Given the description of an element on the screen output the (x, y) to click on. 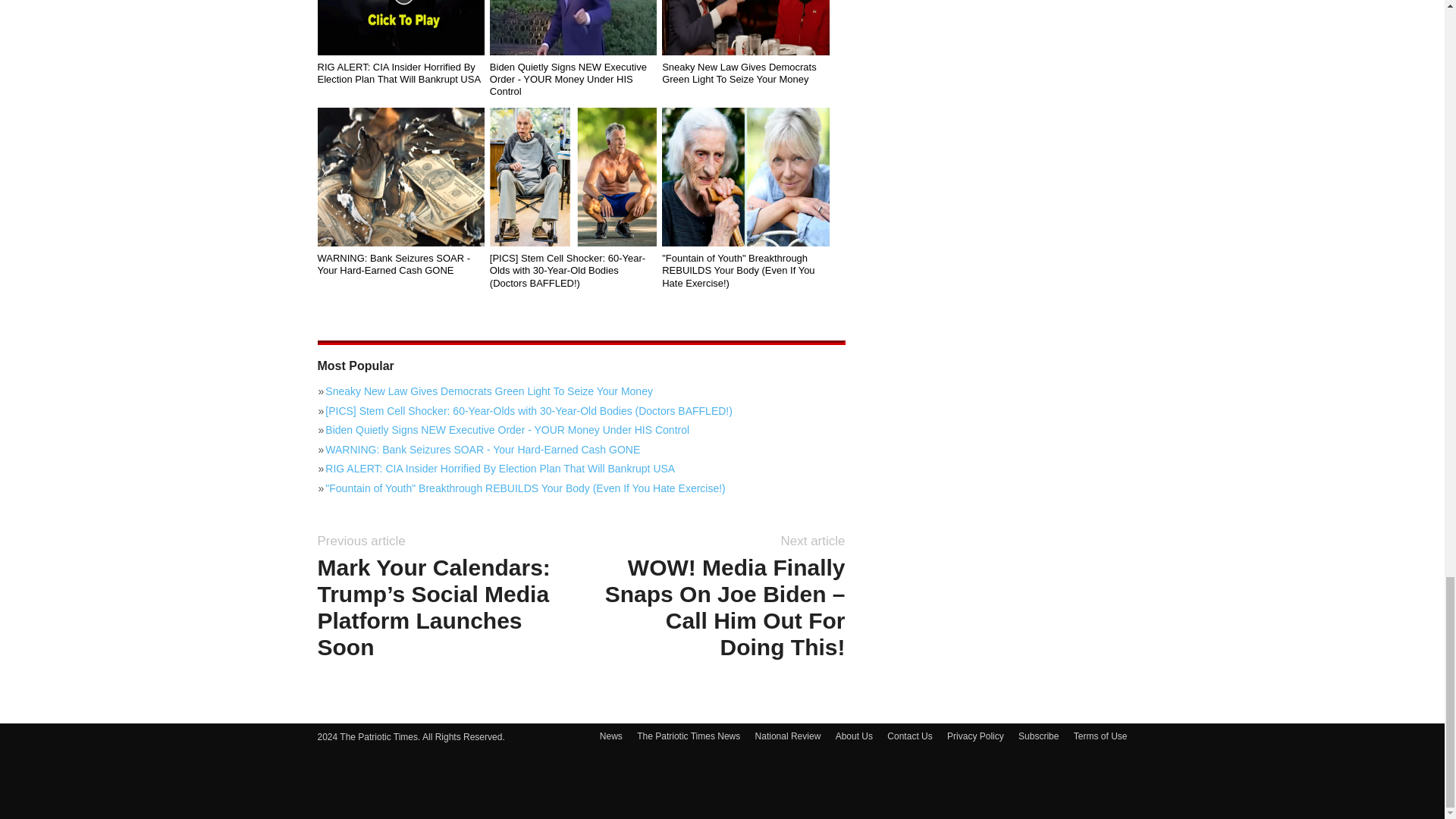
WARNING: Bank Seizures SOAR - Your Hard-Earned Cash GONE (580, 449)
WARNING: Bank Seizures SOAR - Your Hard-Earned Cash GONE (400, 264)
WARNING: Bank Seizures SOAR - Your Hard-Earned Cash GONE (400, 177)
